Given the description of an element on the screen output the (x, y) to click on. 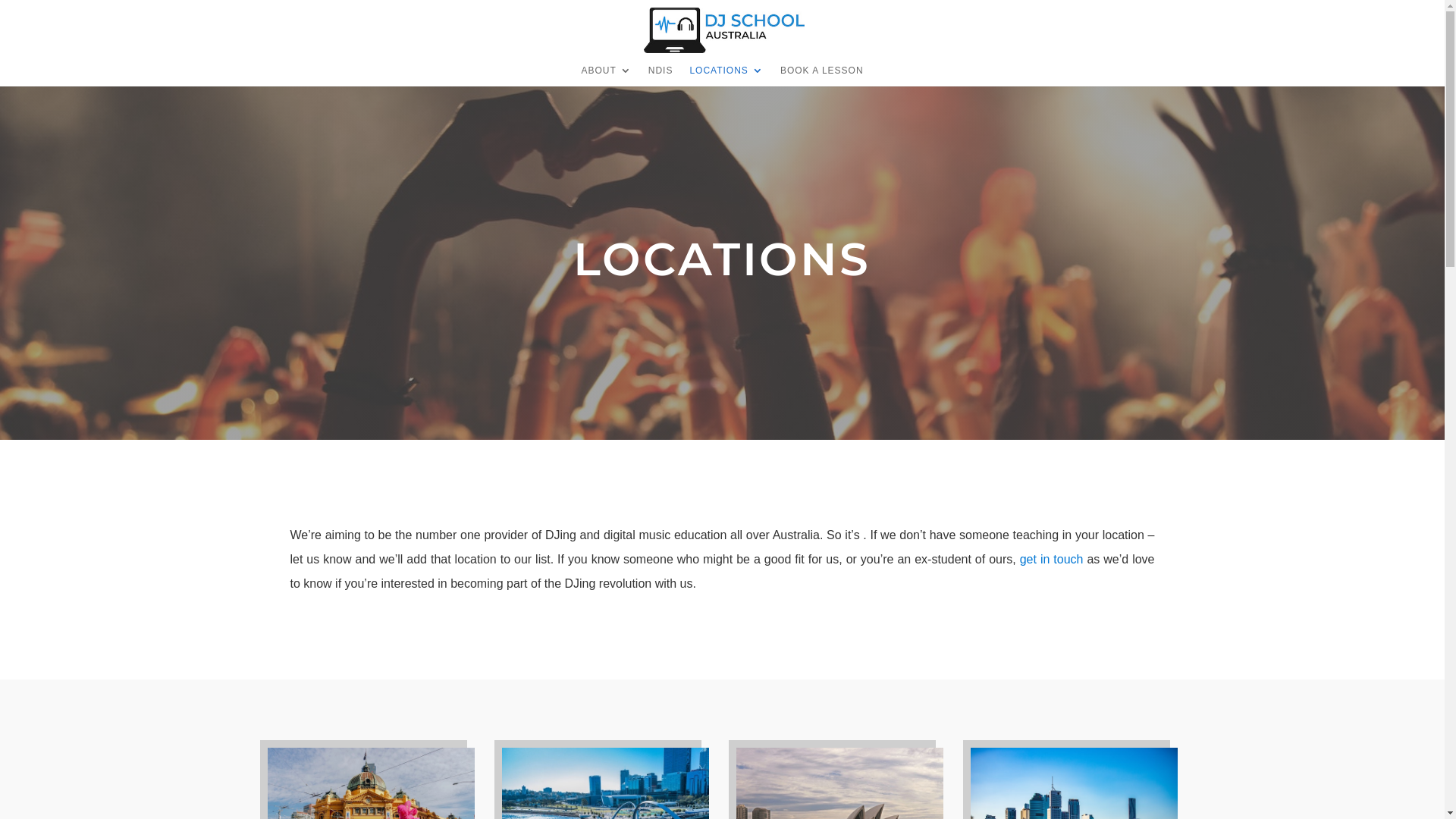
NDIS Element type: text (660, 75)
BOOK A LESSON Element type: text (821, 75)
get in touch Element type: text (1051, 558)
LOCATIONS Element type: text (725, 75)
ABOUT Element type: text (605, 75)
